Given the description of an element on the screen output the (x, y) to click on. 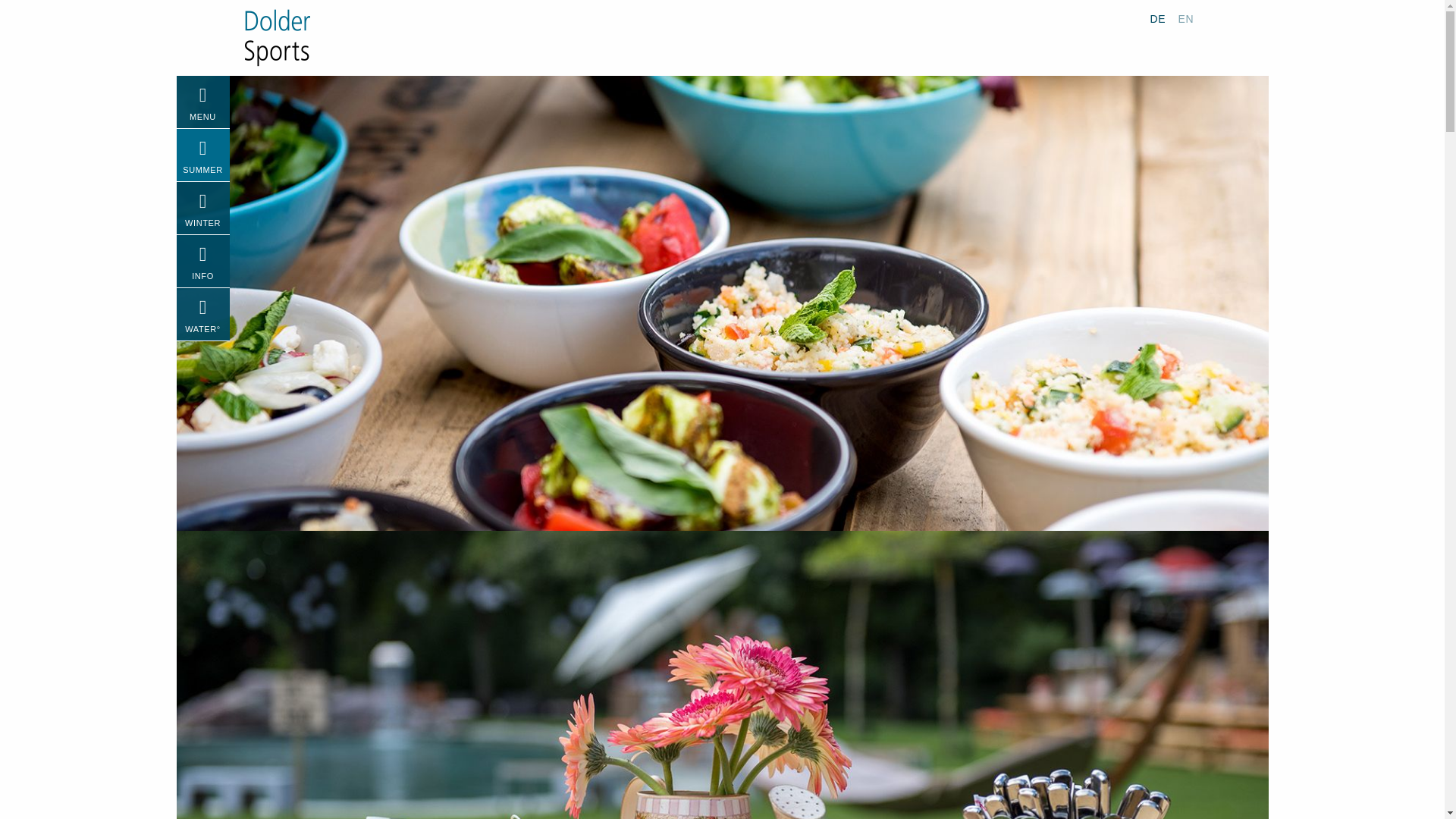
SUMMER (202, 154)
EN (1185, 18)
MENU (202, 101)
WINTER (202, 207)
INFO (202, 261)
DE (1157, 18)
